Given the description of an element on the screen output the (x, y) to click on. 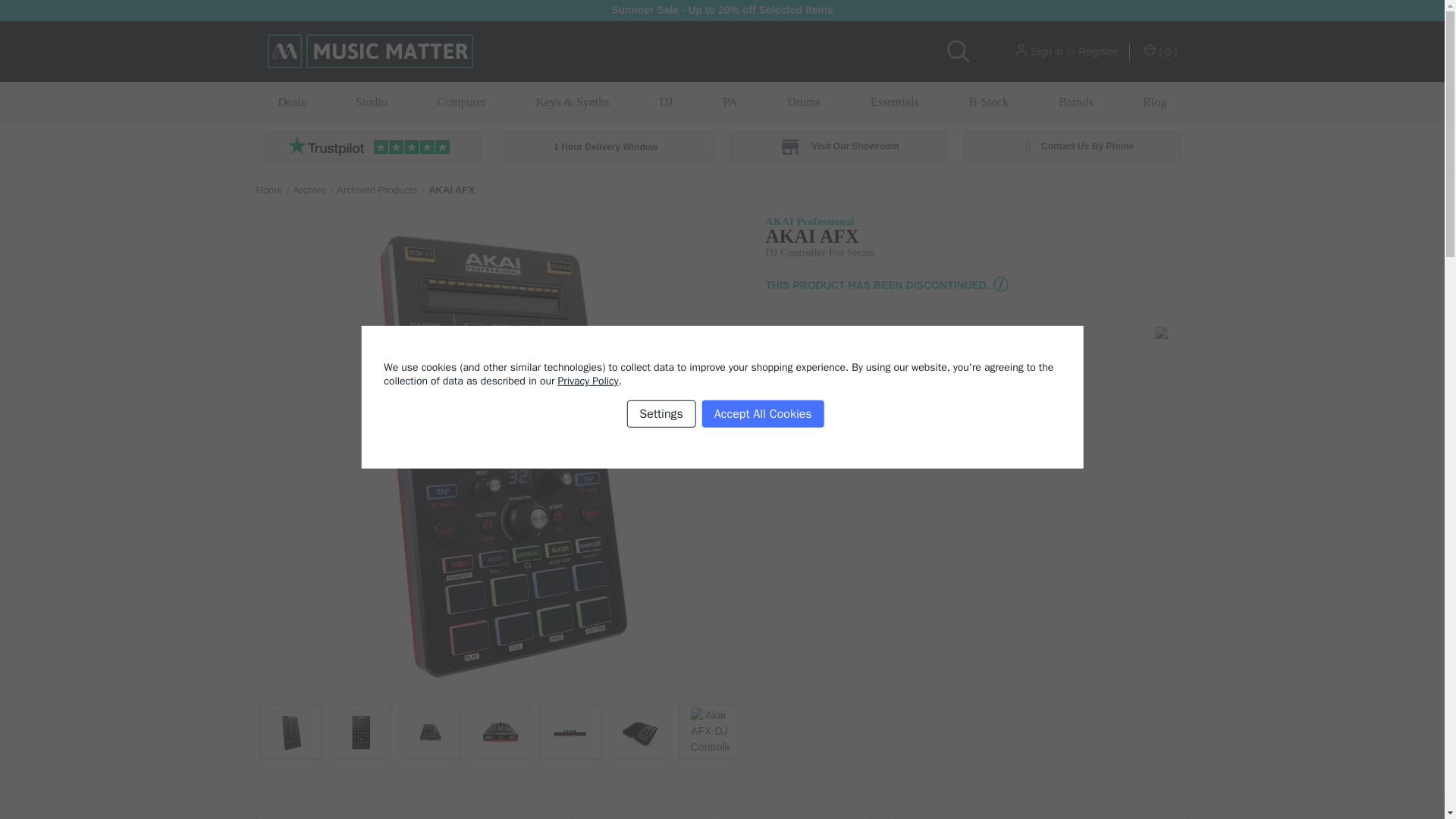
Akai AFX DJ Controller Side (569, 732)
Akai AFX DJ Controller Bottom (429, 732)
Computer (461, 102)
Sign in (1046, 51)
Akai AFX DJ Controller Angle (289, 732)
Music Matter (368, 51)
Register (1098, 51)
Akai AFX DJ Controller With Carrying Case (639, 732)
Akai AFX DJ Controller Front (359, 732)
Akai AFX DJ Controller Top (499, 732)
Deals (291, 102)
Studio (370, 102)
